Given the description of an element on the screen output the (x, y) to click on. 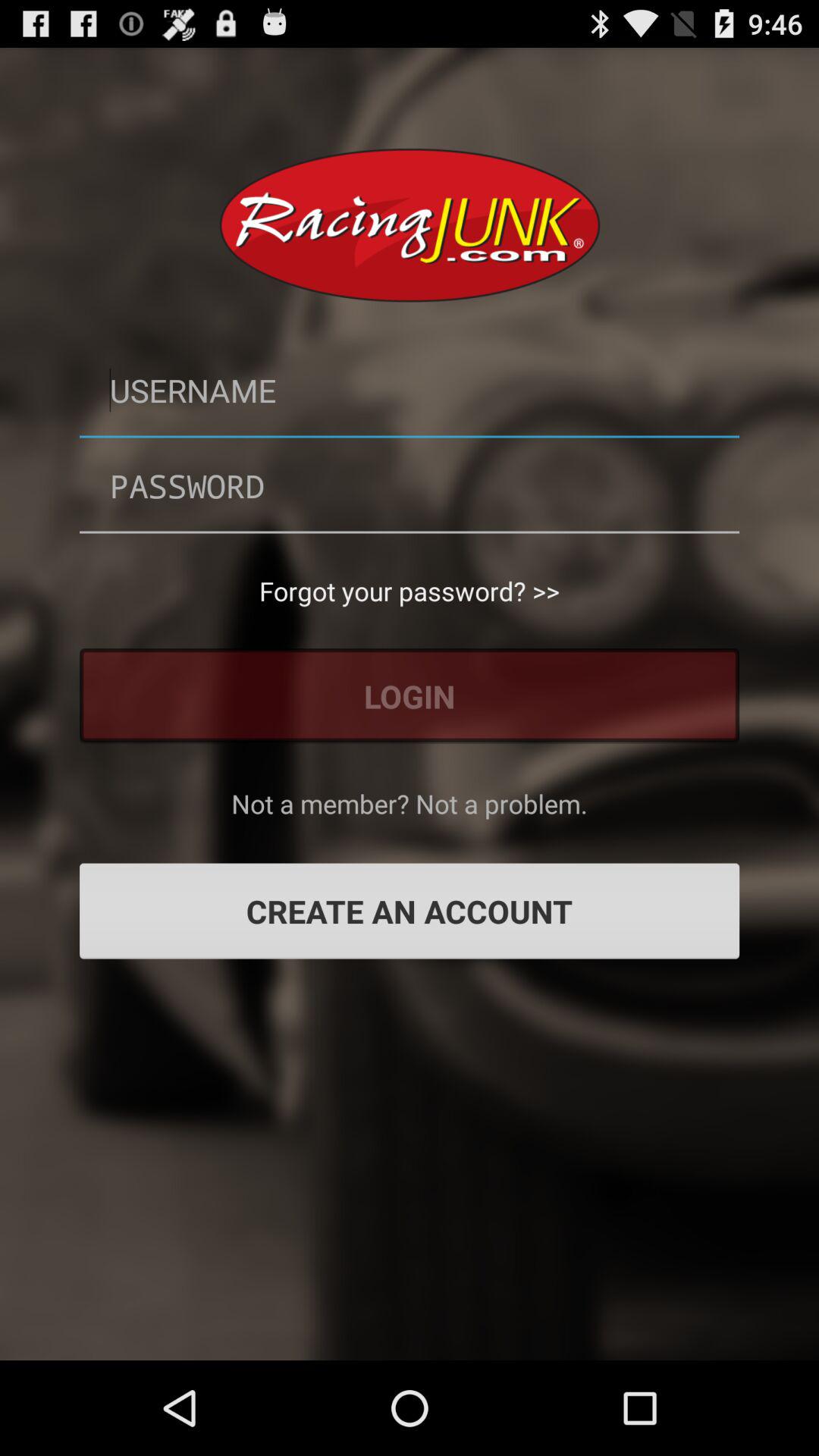
jump until create an account (409, 910)
